Given the description of an element on the screen output the (x, y) to click on. 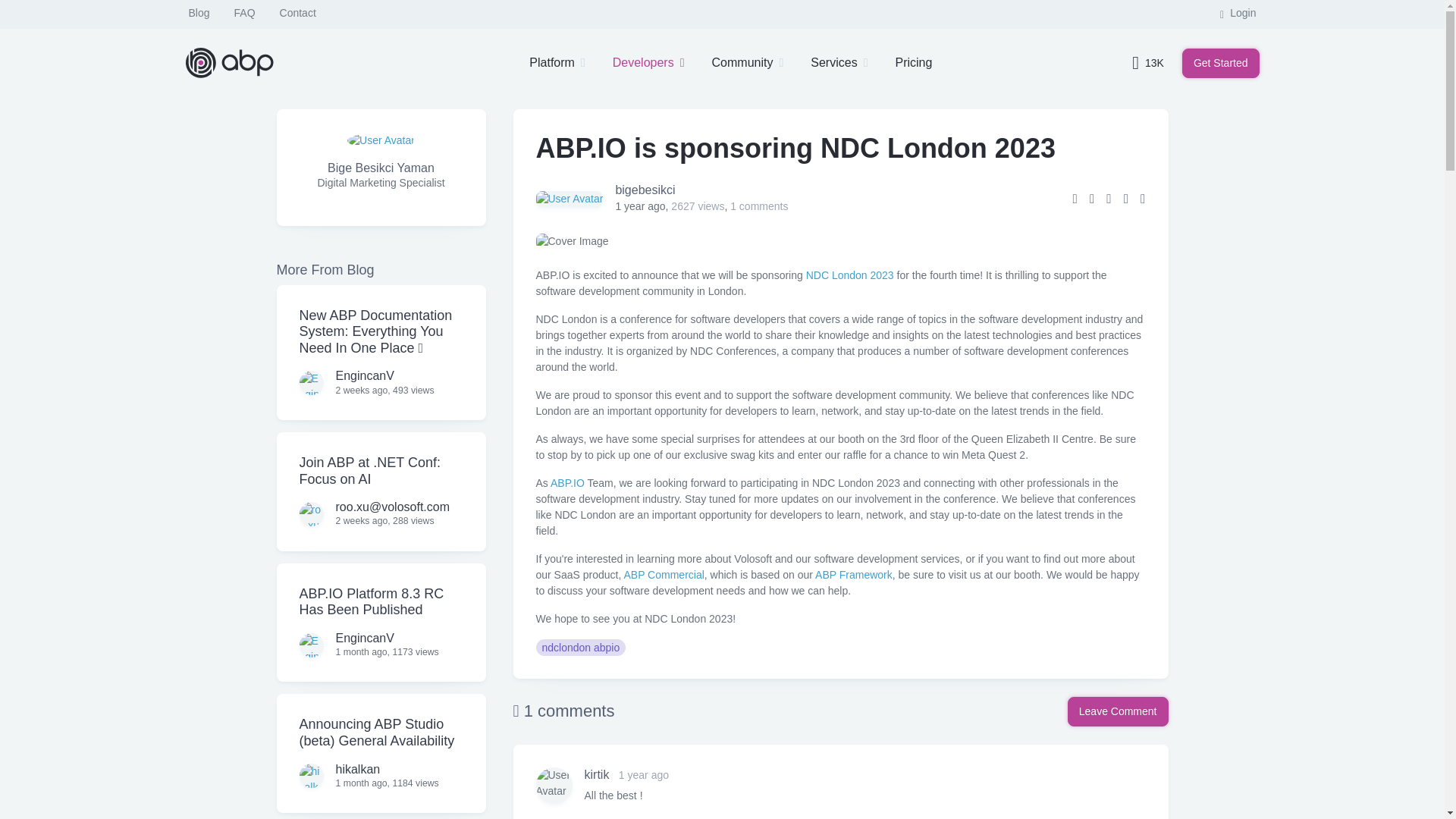
Blog (198, 13)
Services (838, 62)
FAQ (245, 13)
Login (1238, 13)
Pricing (912, 62)
Platform (556, 62)
Community (747, 62)
Developers (648, 62)
Contact (297, 13)
